Given the description of an element on the screen output the (x, y) to click on. 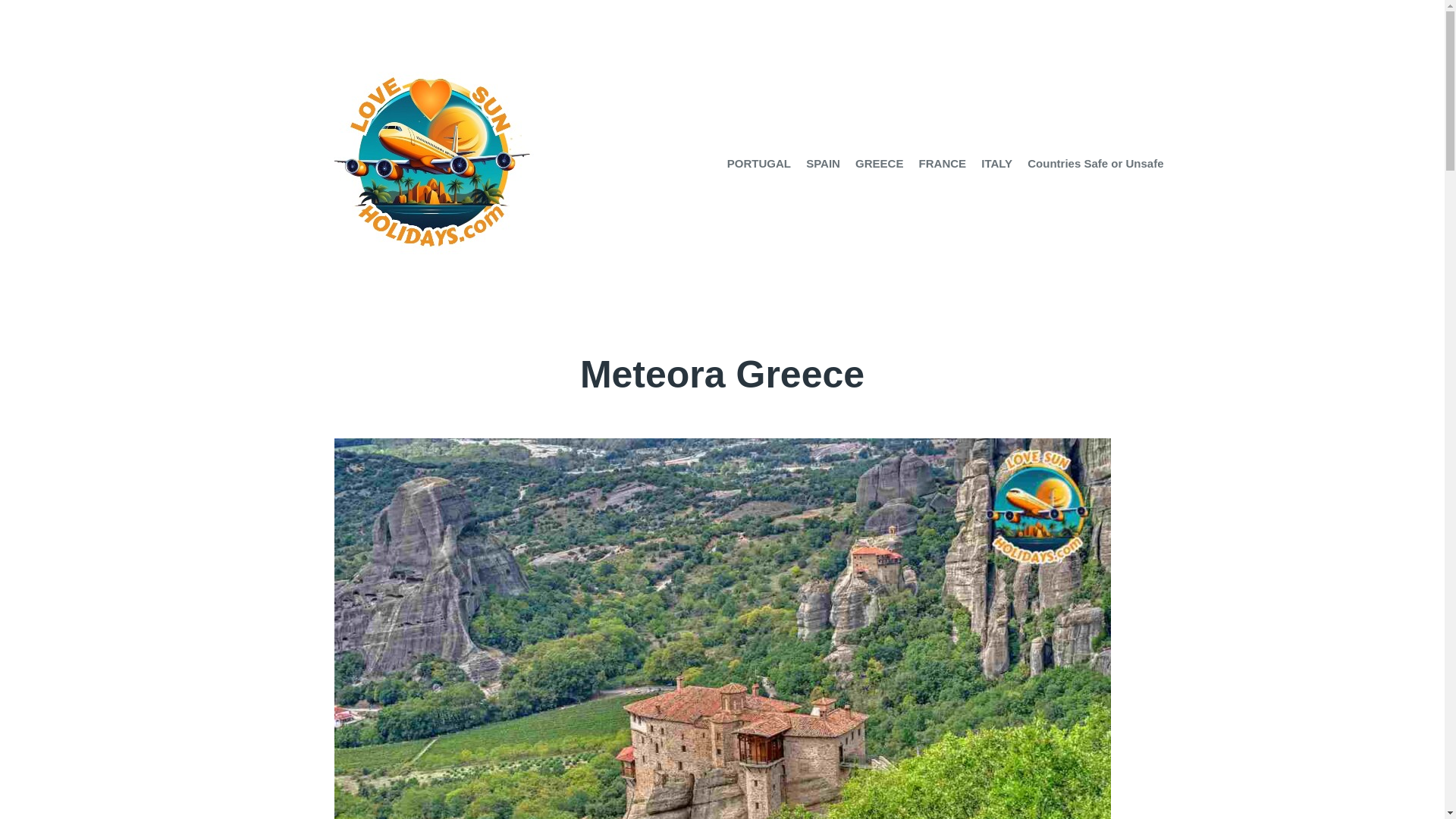
SPAIN (823, 163)
Countries Safe or Unsafe (1095, 163)
PORTUGAL (758, 163)
GREECE (879, 163)
FRANCE (942, 163)
ITALY (996, 163)
